Given the description of an element on the screen output the (x, y) to click on. 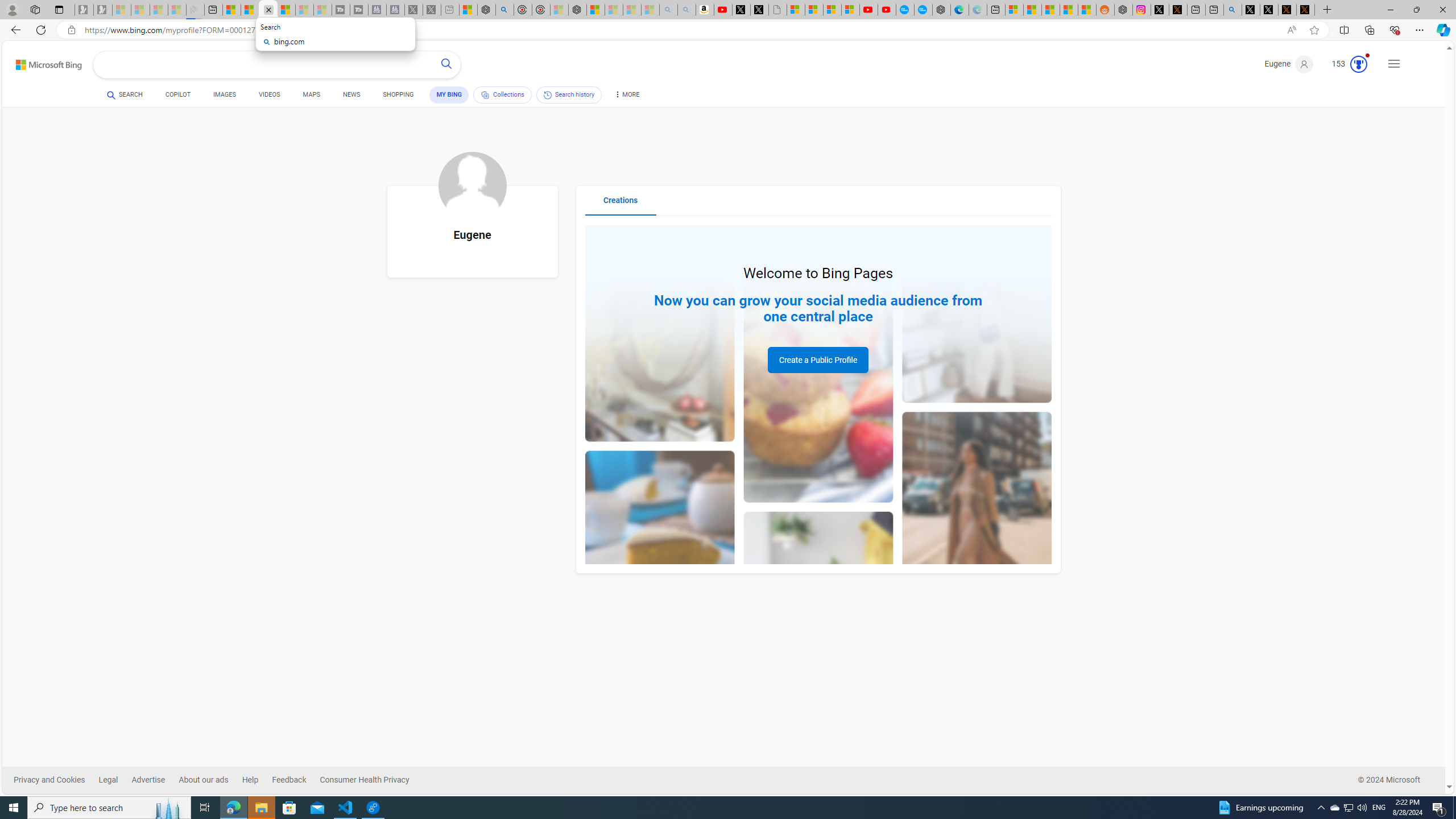
Nordace - Nordace has arrived Hong Kong (941, 9)
VIDEOS (268, 94)
Class: b_pri_nav_svg (484, 94)
Consumer Health Privacy (371, 780)
NEWS (350, 96)
MAPS (311, 96)
Untitled (778, 9)
IMAGES (224, 94)
Creations (620, 204)
